Given the description of an element on the screen output the (x, y) to click on. 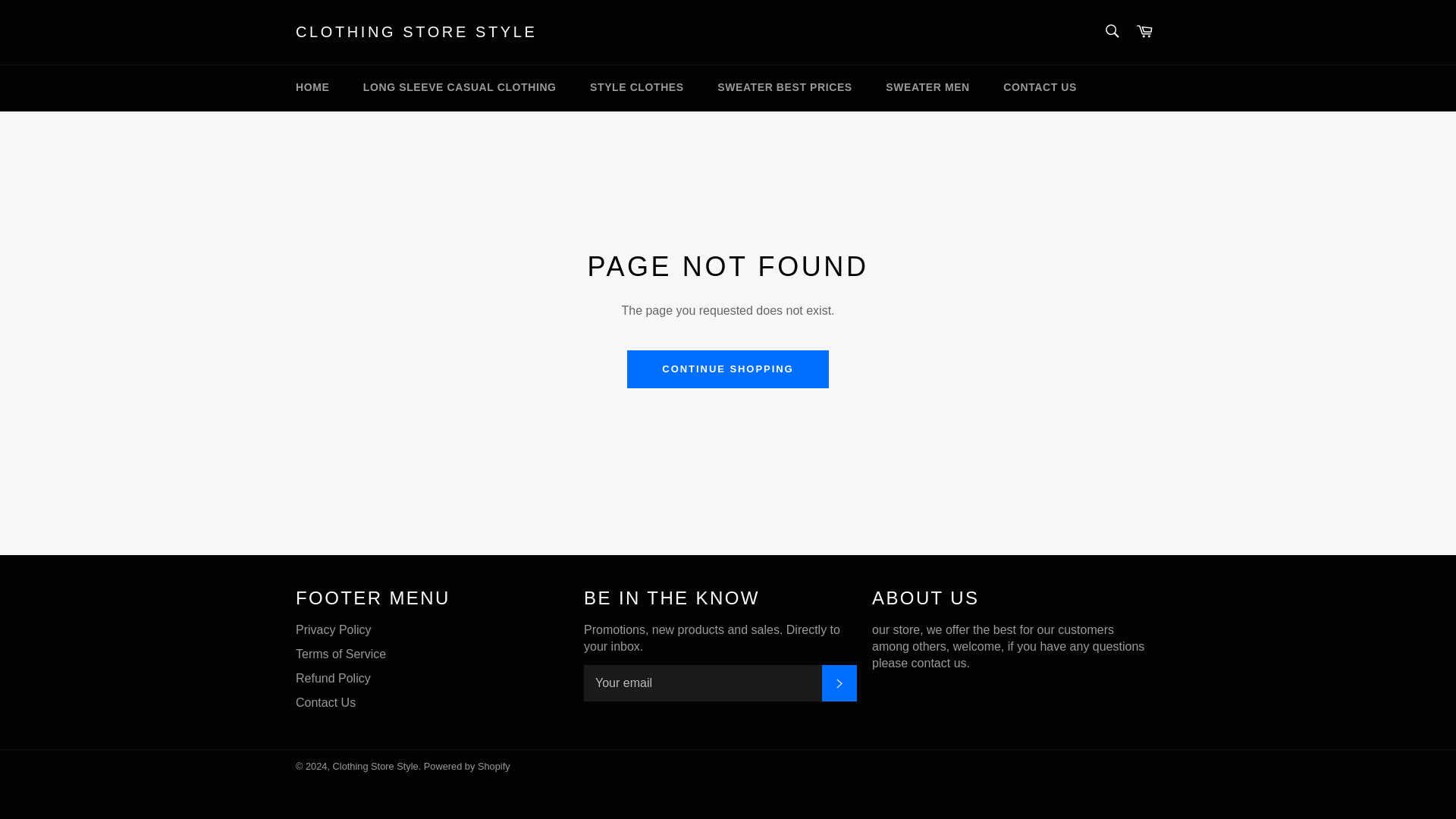
LONG SLEEVE CASUAL CLOTHING (459, 87)
SUBSCRIBE (839, 683)
HOME (312, 87)
Terms of Service (340, 653)
STYLE CLOTHES (636, 87)
Powered by Shopify (467, 766)
SWEATER BEST PRICES (784, 87)
CONTACT US (1040, 87)
CLOTHING STORE STYLE (416, 32)
Refund Policy (333, 677)
Search (1111, 30)
SWEATER MEN (927, 87)
CONTINUE SHOPPING (727, 369)
Privacy Policy (333, 629)
Cart (1144, 32)
